Given the description of an element on the screen output the (x, y) to click on. 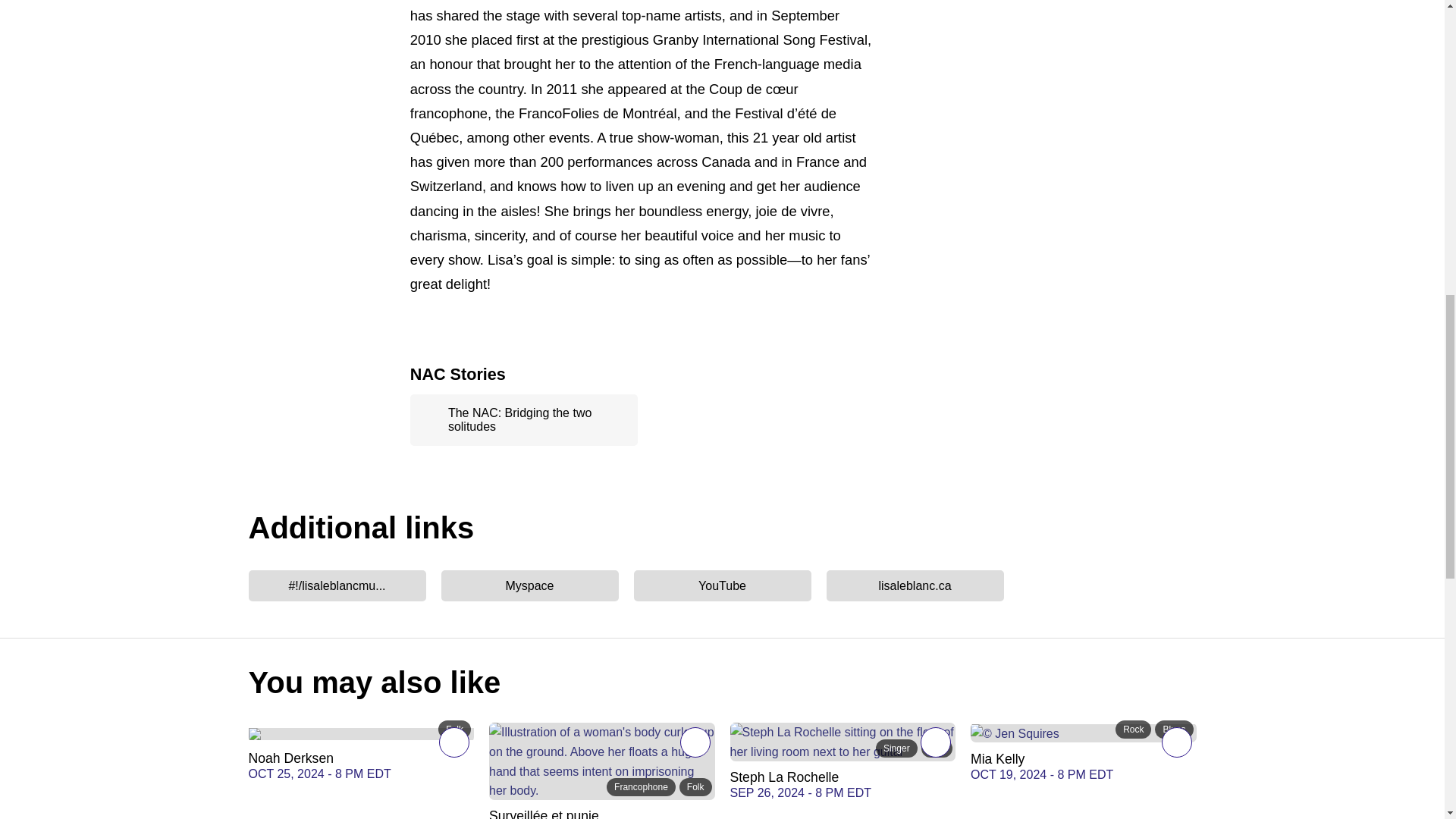
YouTube (721, 585)
Article - Lisa LeBlanc (523, 419)
MySpace (529, 585)
Facebook (337, 585)
Web (915, 585)
Noah Derksen (361, 732)
